Given the description of an element on the screen output the (x, y) to click on. 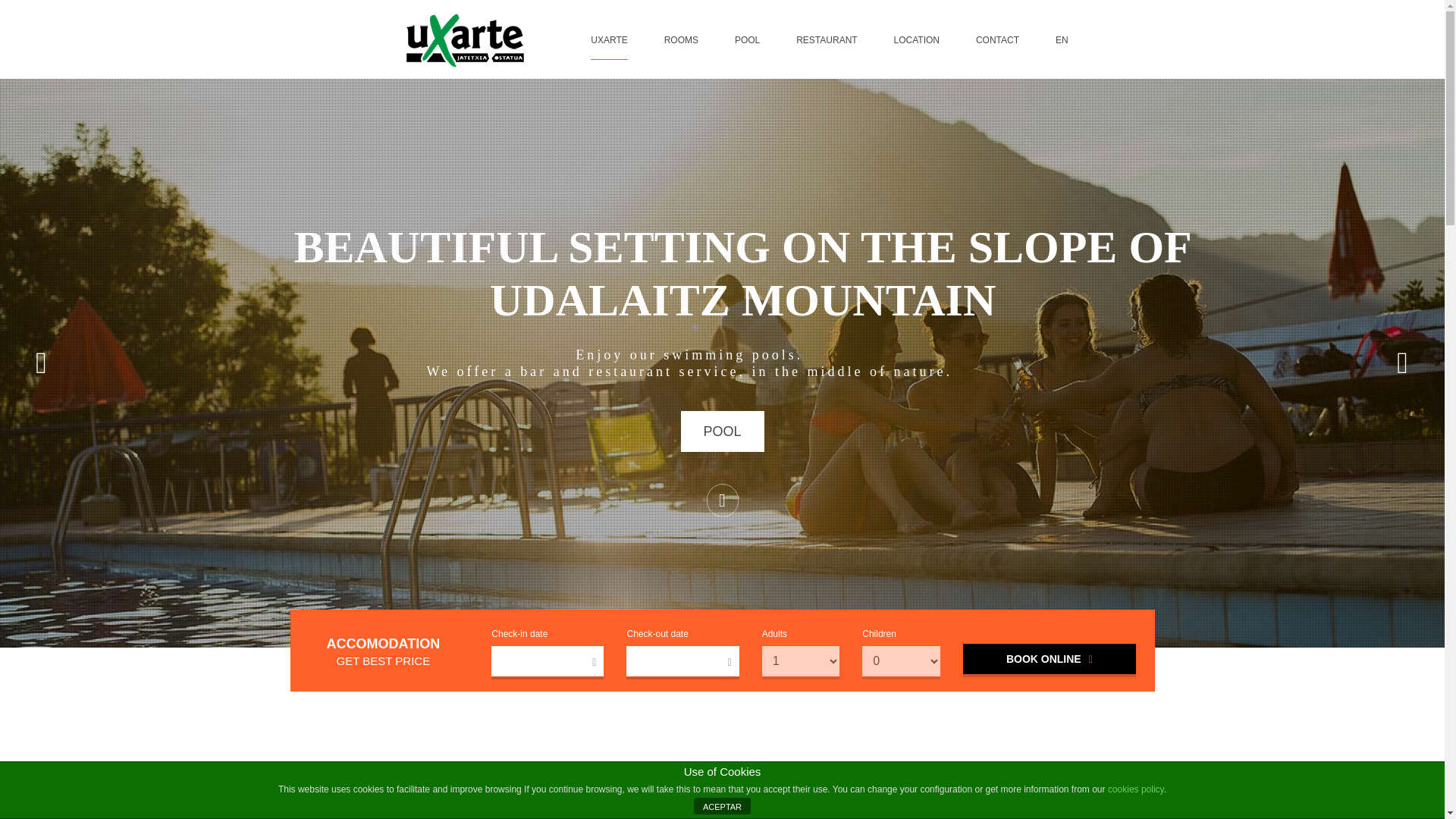
CONTACT (997, 40)
EN (1061, 40)
ROOMS (680, 40)
RESTAURANT (825, 40)
UXARTE (608, 40)
cookies policy (1135, 788)
EN (1061, 40)
BOOK ONLINE (1048, 658)
ACEPTAR (722, 805)
POOL (746, 40)
LOCATION (916, 40)
